Given the description of an element on the screen output the (x, y) to click on. 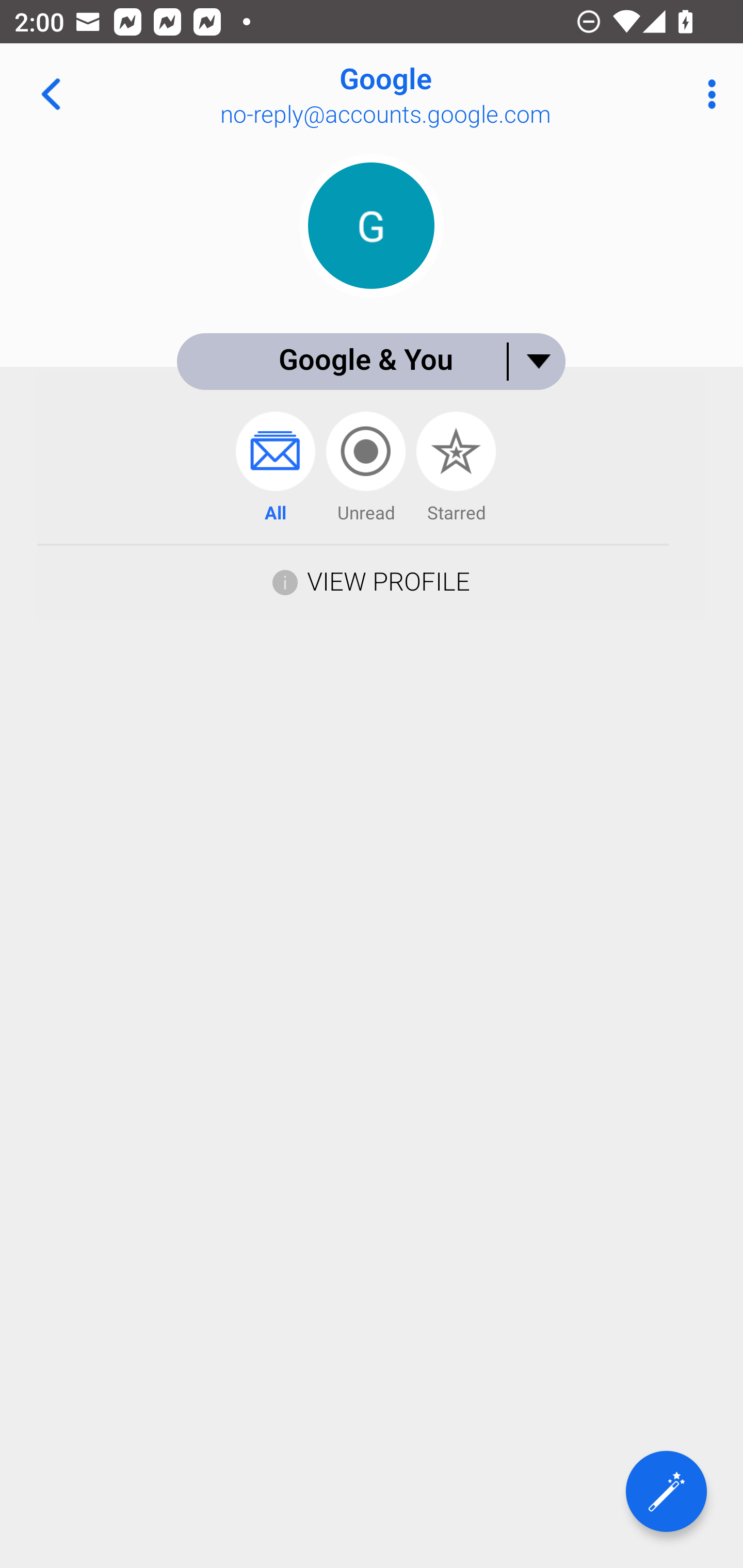
VIEW PROFILE (371, 580)
VIEW PROFILE (388, 580)
